Given the description of an element on the screen output the (x, y) to click on. 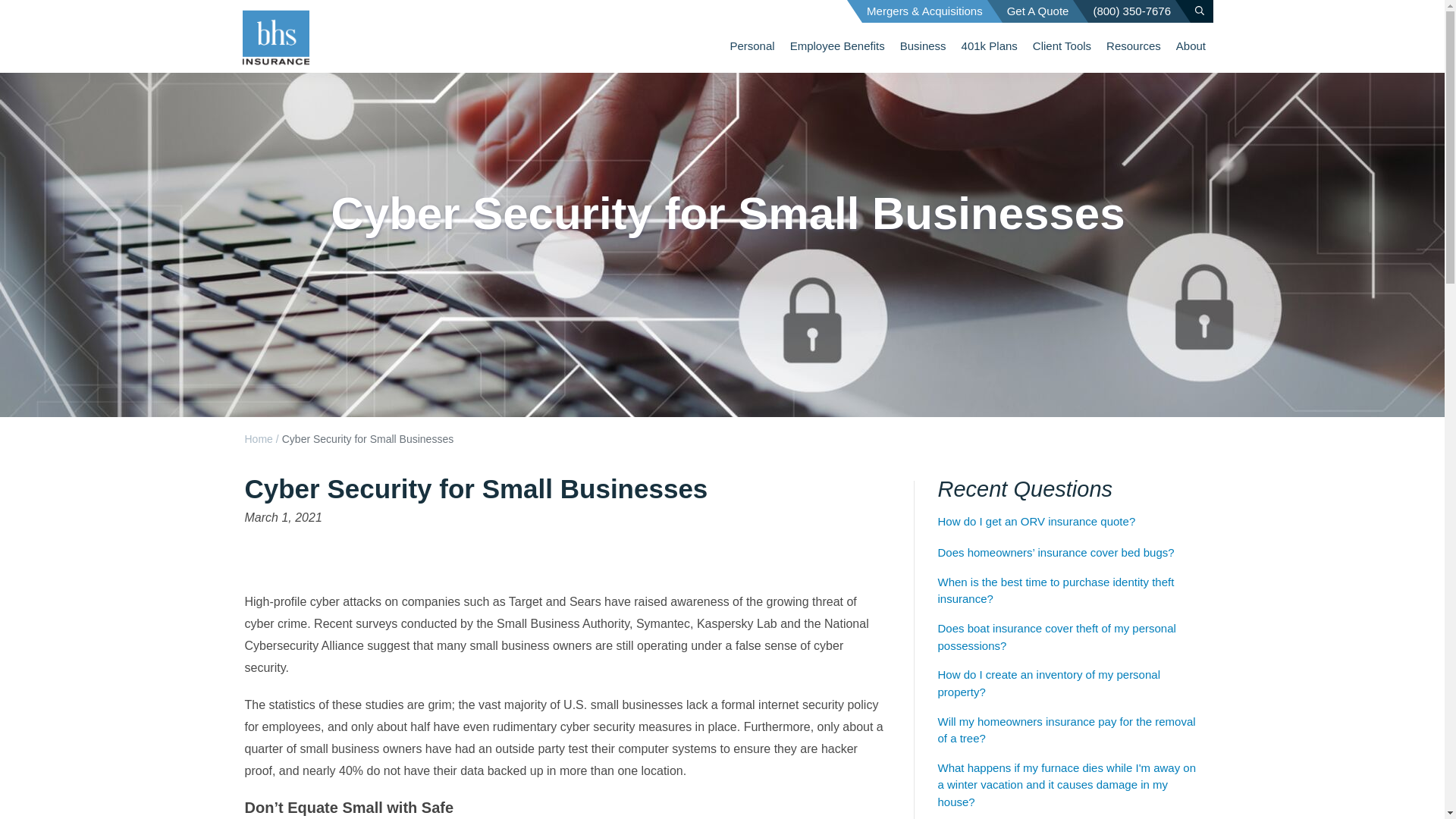
Business (922, 45)
Get A Quote (1038, 11)
Employee Benefits (837, 45)
Personal (751, 45)
401k Plans (988, 45)
